Given the description of an element on the screen output the (x, y) to click on. 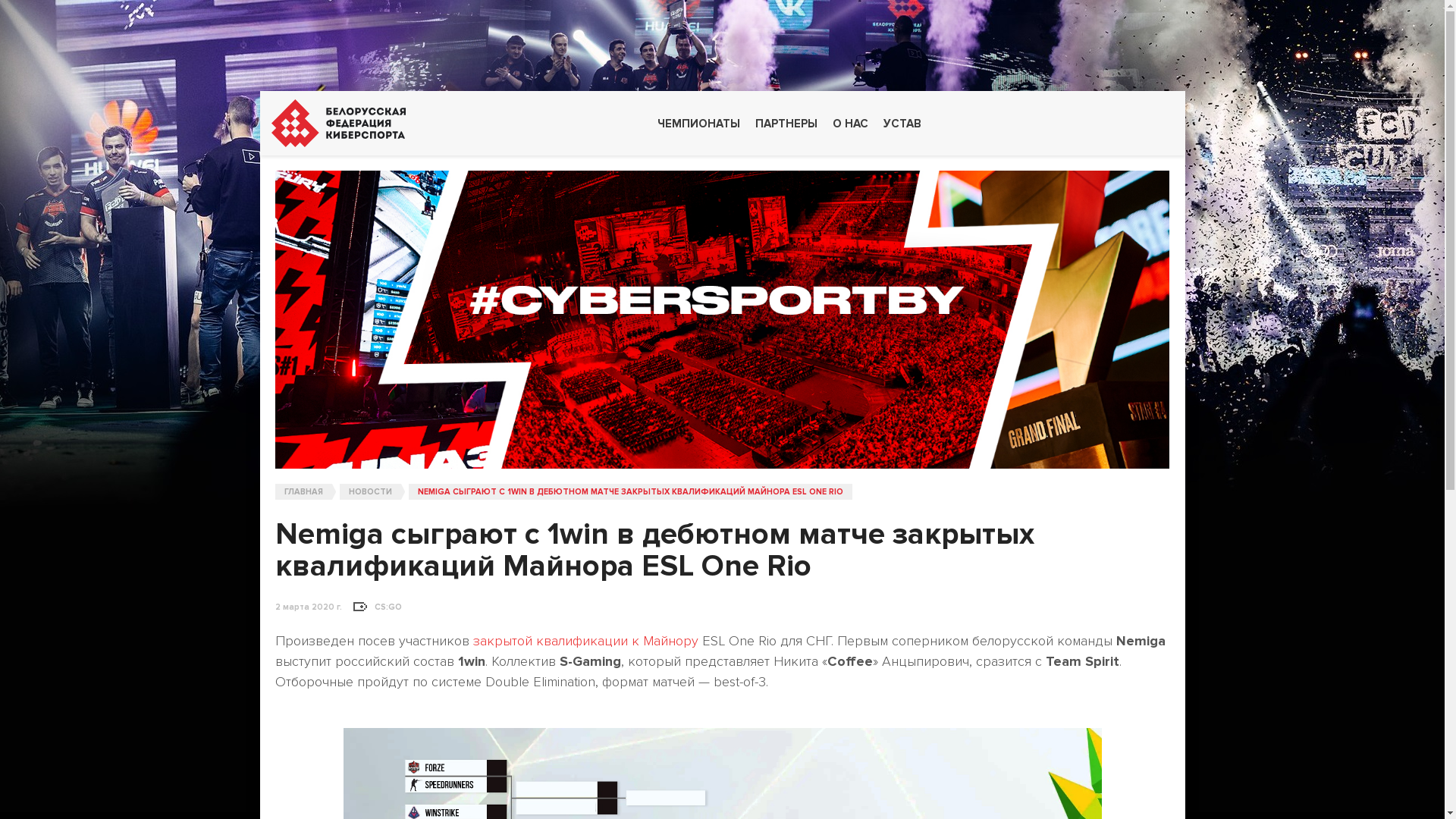
CS:GO Element type: text (387, 607)
